Given the description of an element on the screen output the (x, y) to click on. 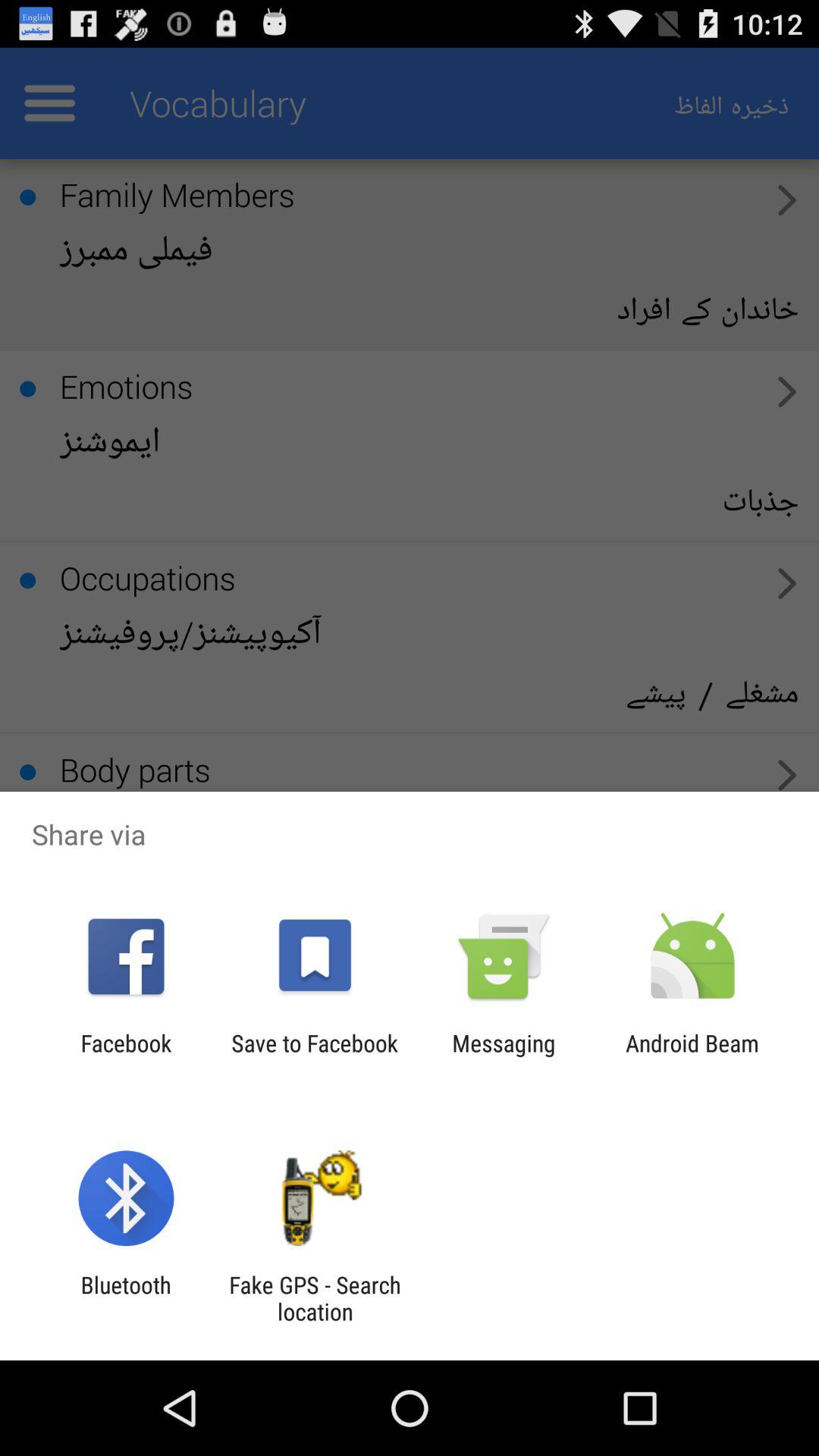
choose the icon next to bluetooth item (314, 1298)
